Given the description of an element on the screen output the (x, y) to click on. 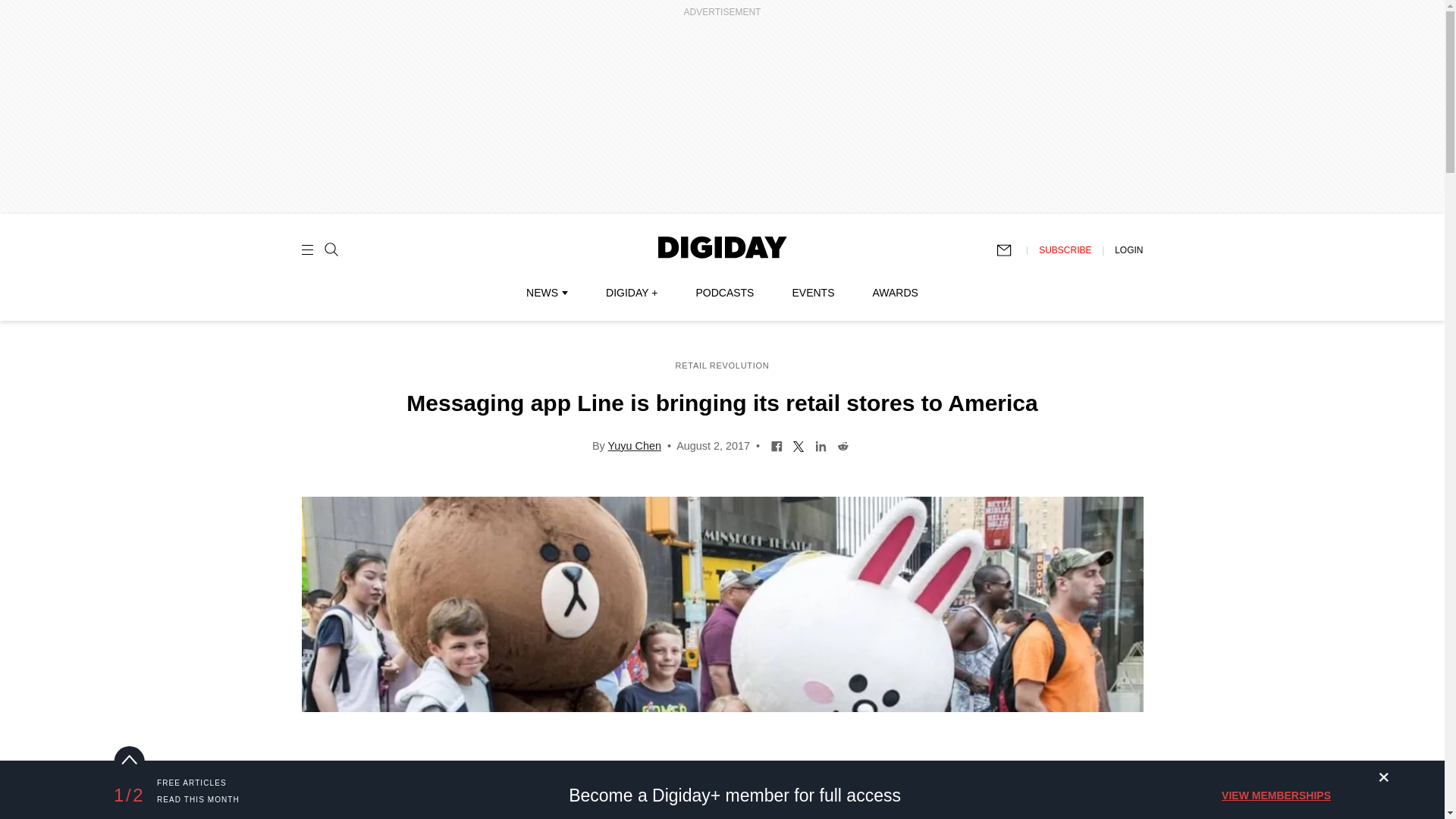
NEWS (546, 292)
EVENTS (813, 292)
Share on Twitter (798, 444)
SUBSCRIBE (1064, 249)
Share on Facebook (776, 444)
AWARDS (894, 292)
LOGIN (1128, 249)
Share on LinkedIn (820, 444)
Share on Reddit (841, 444)
Subscribe (1010, 250)
PODCASTS (725, 292)
